Given the description of an element on the screen output the (x, y) to click on. 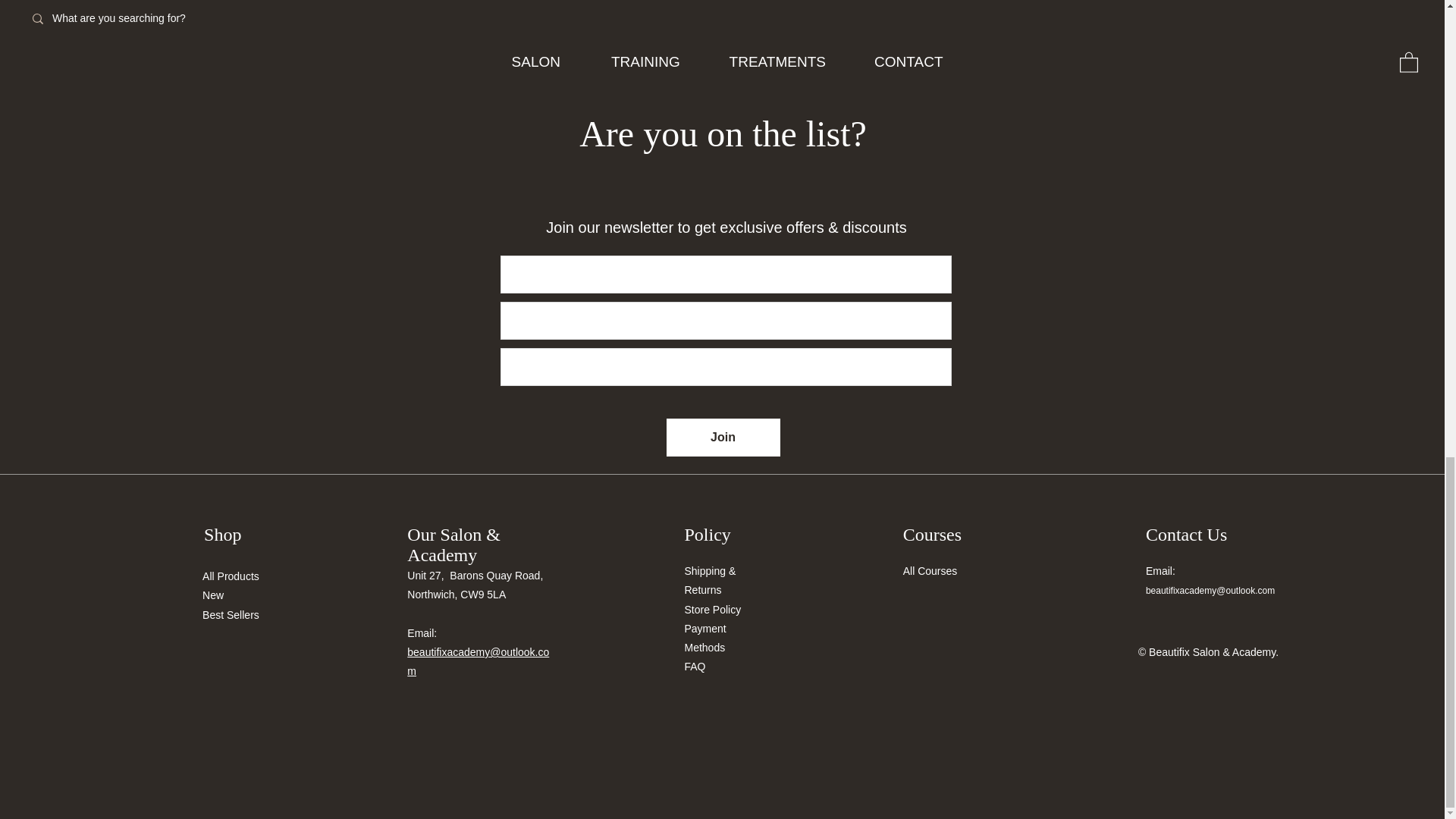
New (213, 594)
Join (721, 437)
All Products (230, 576)
Best Sellers (230, 614)
All Courses (930, 571)
